Given the description of an element on the screen output the (x, y) to click on. 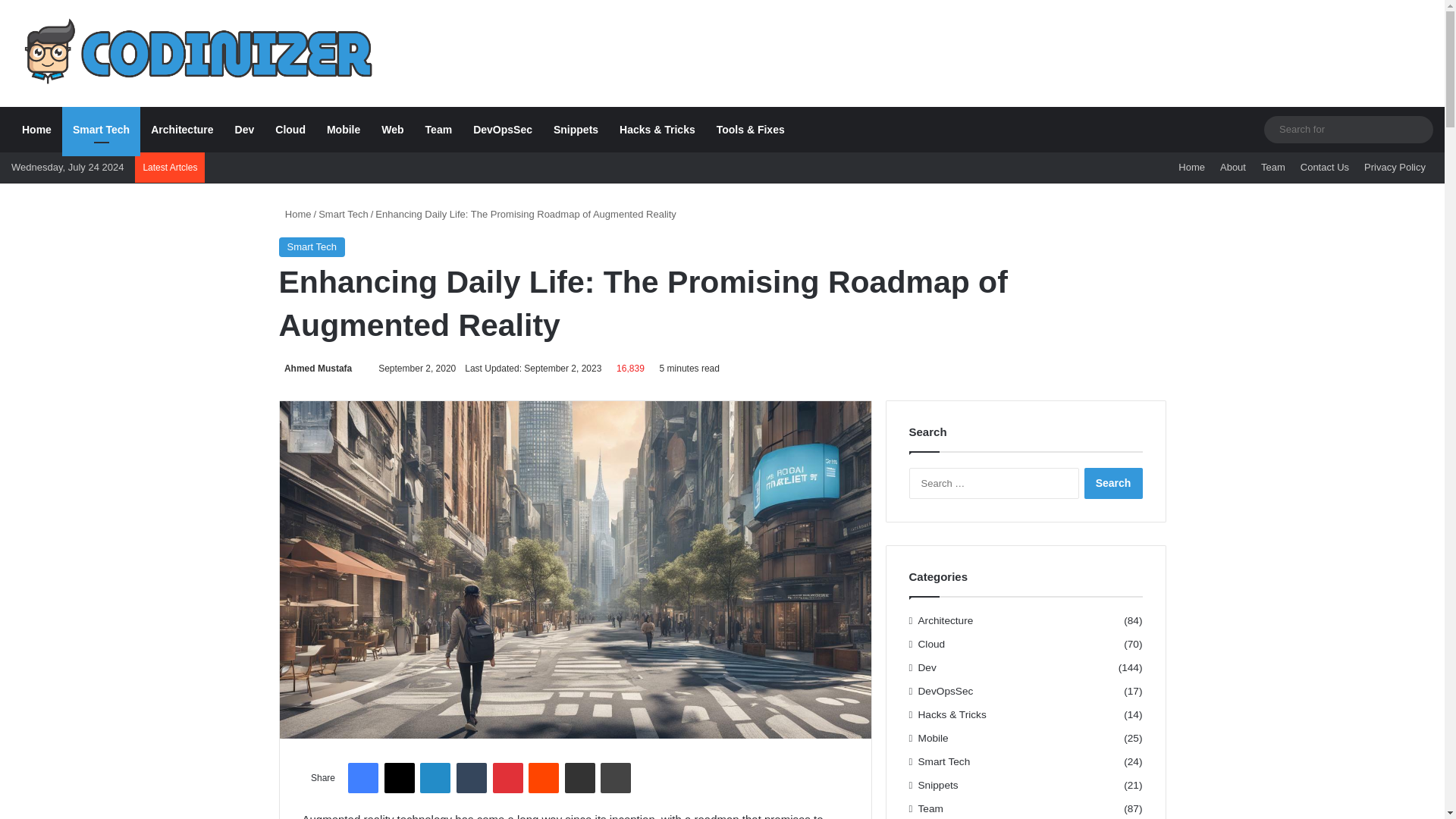
Search (1113, 482)
Smart Tech (100, 129)
Mobile (343, 129)
Codinizer (194, 52)
Team (438, 129)
Home (36, 129)
Snippets (575, 129)
Search (1113, 482)
Web (392, 129)
DevOpsSec (503, 129)
Search for (1417, 129)
Dev (244, 129)
Architecture (181, 129)
Cloud (289, 129)
